Given the description of an element on the screen output the (x, y) to click on. 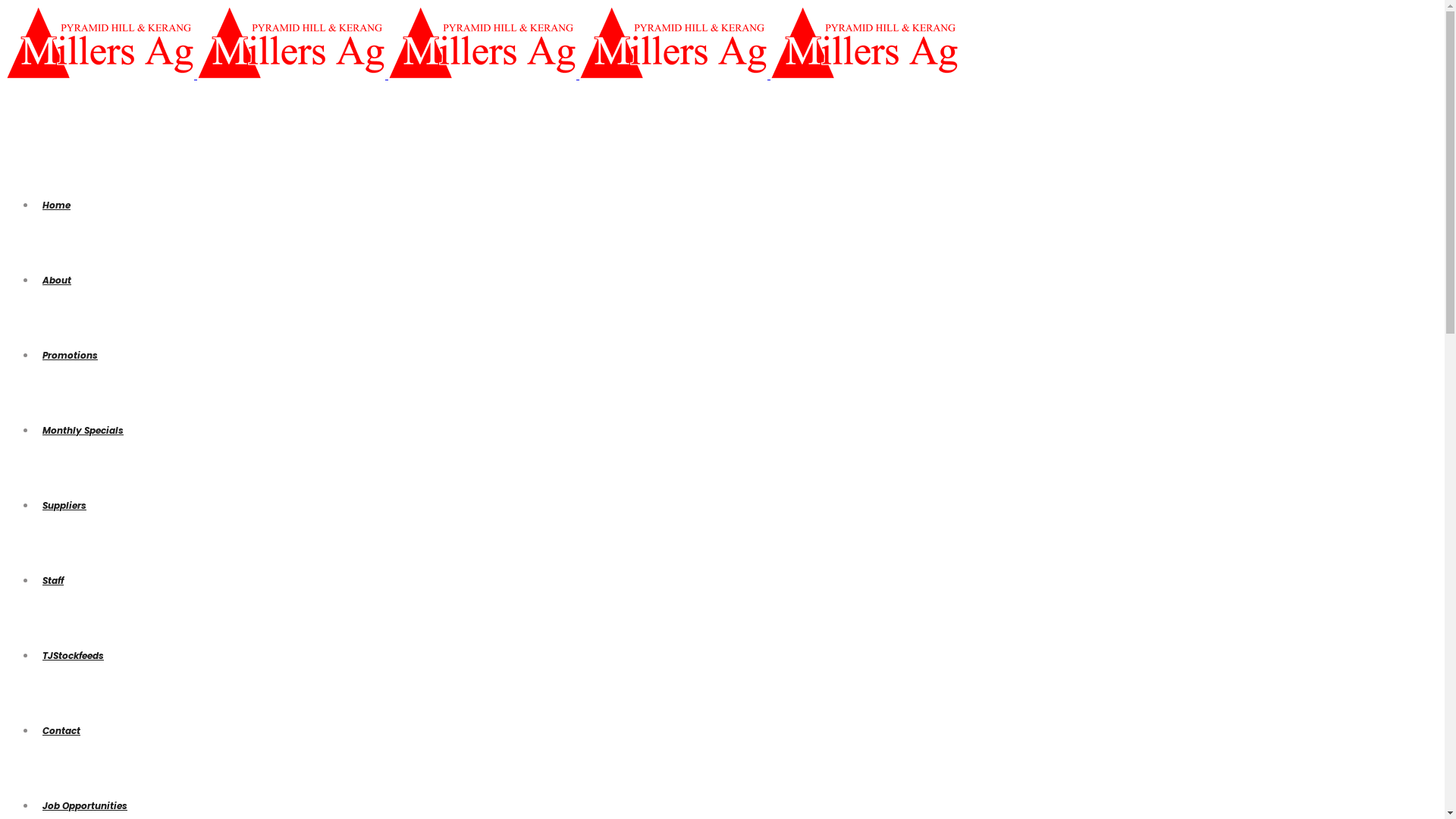
About Element type: text (56, 279)
Promotions Element type: text (69, 354)
Staff Element type: text (52, 580)
Home Element type: text (56, 204)
Monthly Specials Element type: text (82, 429)
Suppliers Element type: text (64, 504)
Contact Element type: text (61, 730)
TJStockfeeds Element type: text (72, 655)
Job Opportunities Element type: text (84, 805)
